Given the description of an element on the screen output the (x, y) to click on. 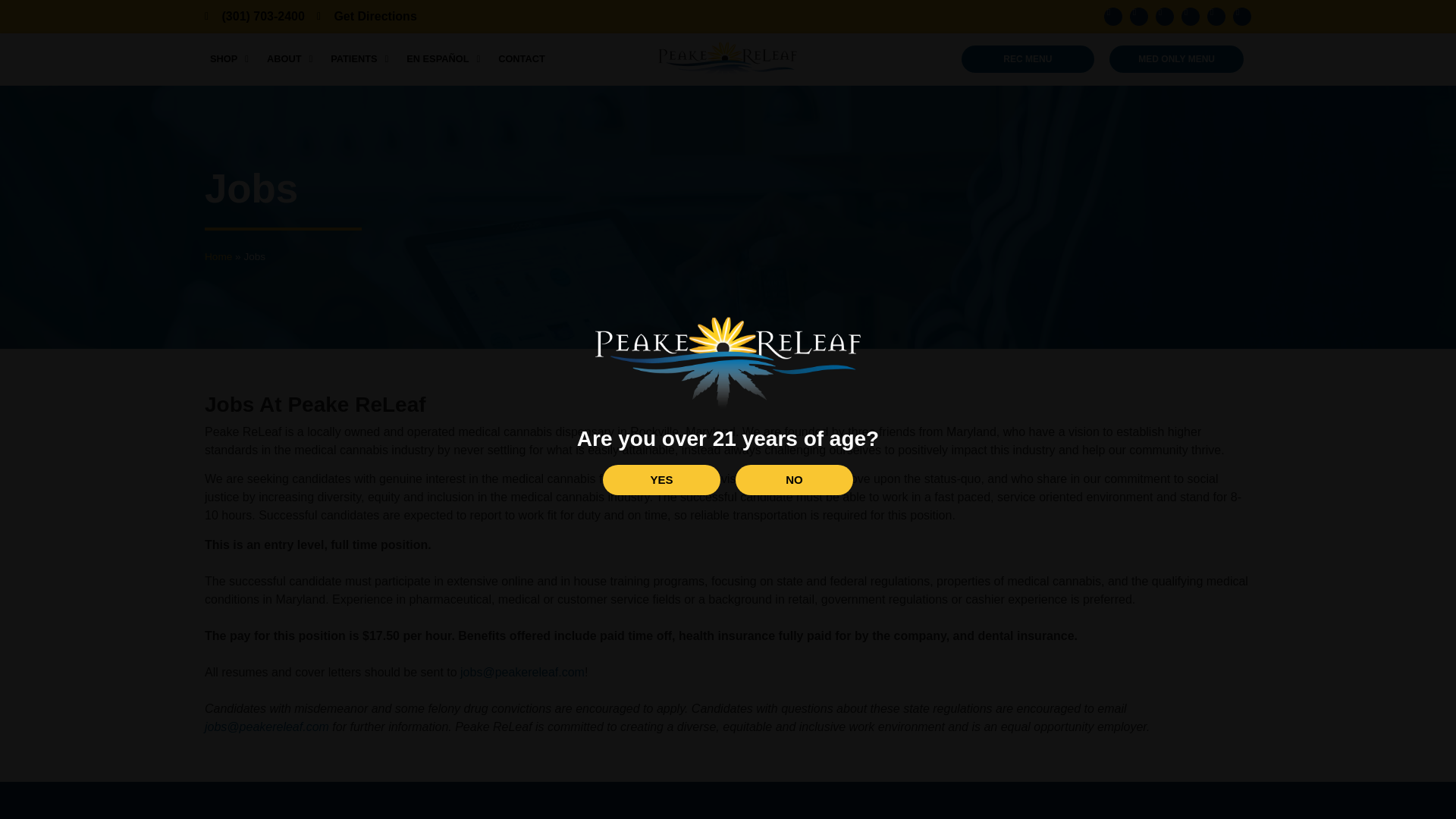
SHOP (229, 58)
ABOUT (289, 58)
Get Directions (366, 16)
CONTACT (521, 58)
PATIENTS (358, 58)
